Given the description of an element on the screen output the (x, y) to click on. 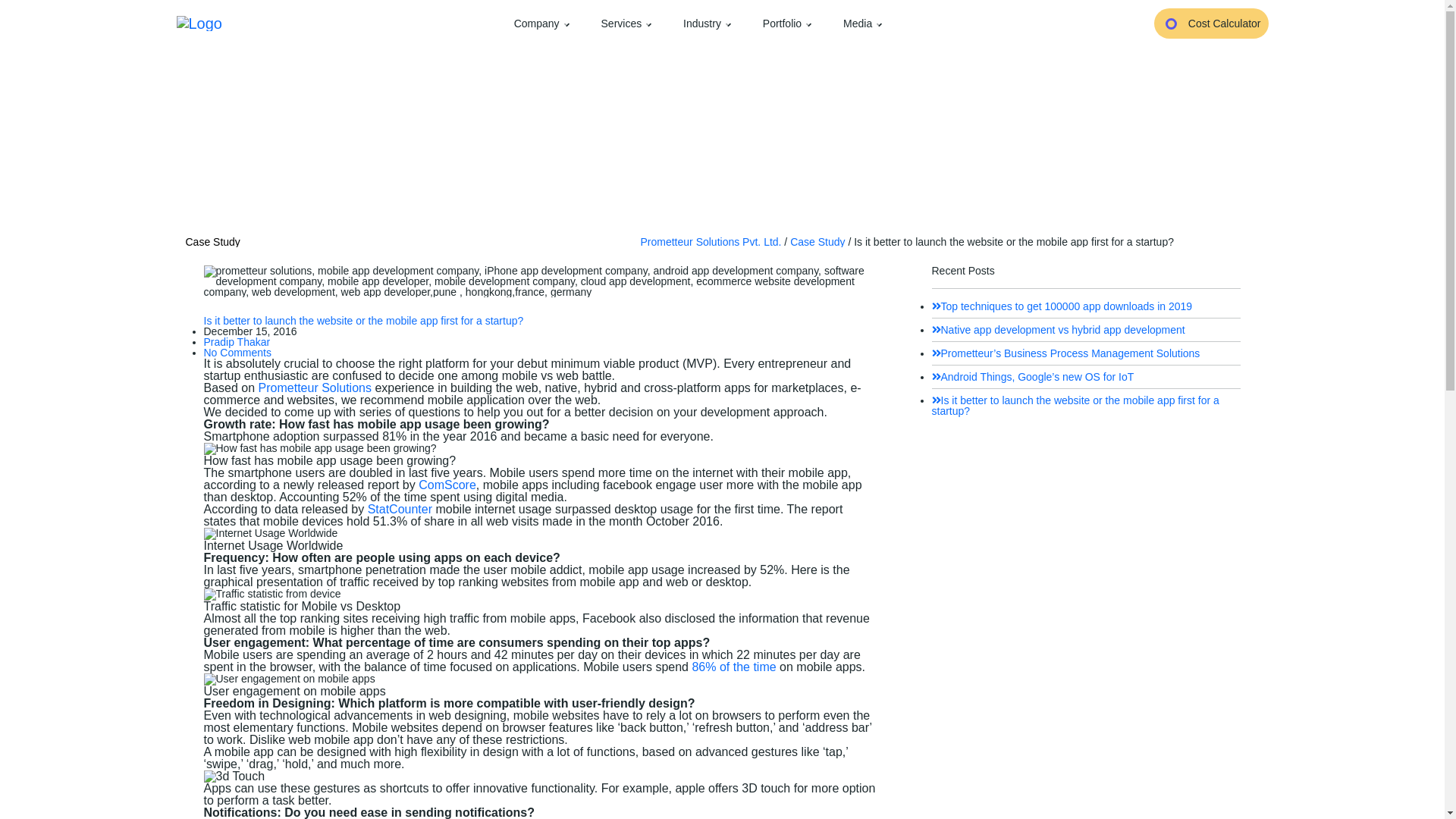
Media (862, 22)
Case Study (817, 241)
View all posts by Pradip Thakar (236, 341)
Company (541, 22)
Cost Calculator (1211, 23)
 How fast has mobile app usage been growing? (319, 449)
Internet Usage Worldwide (270, 533)
Prometteur Solutions Pvt. Ltd. (710, 241)
Services (626, 22)
Industry (706, 22)
Portfolio (787, 22)
